Given the description of an element on the screen output the (x, y) to click on. 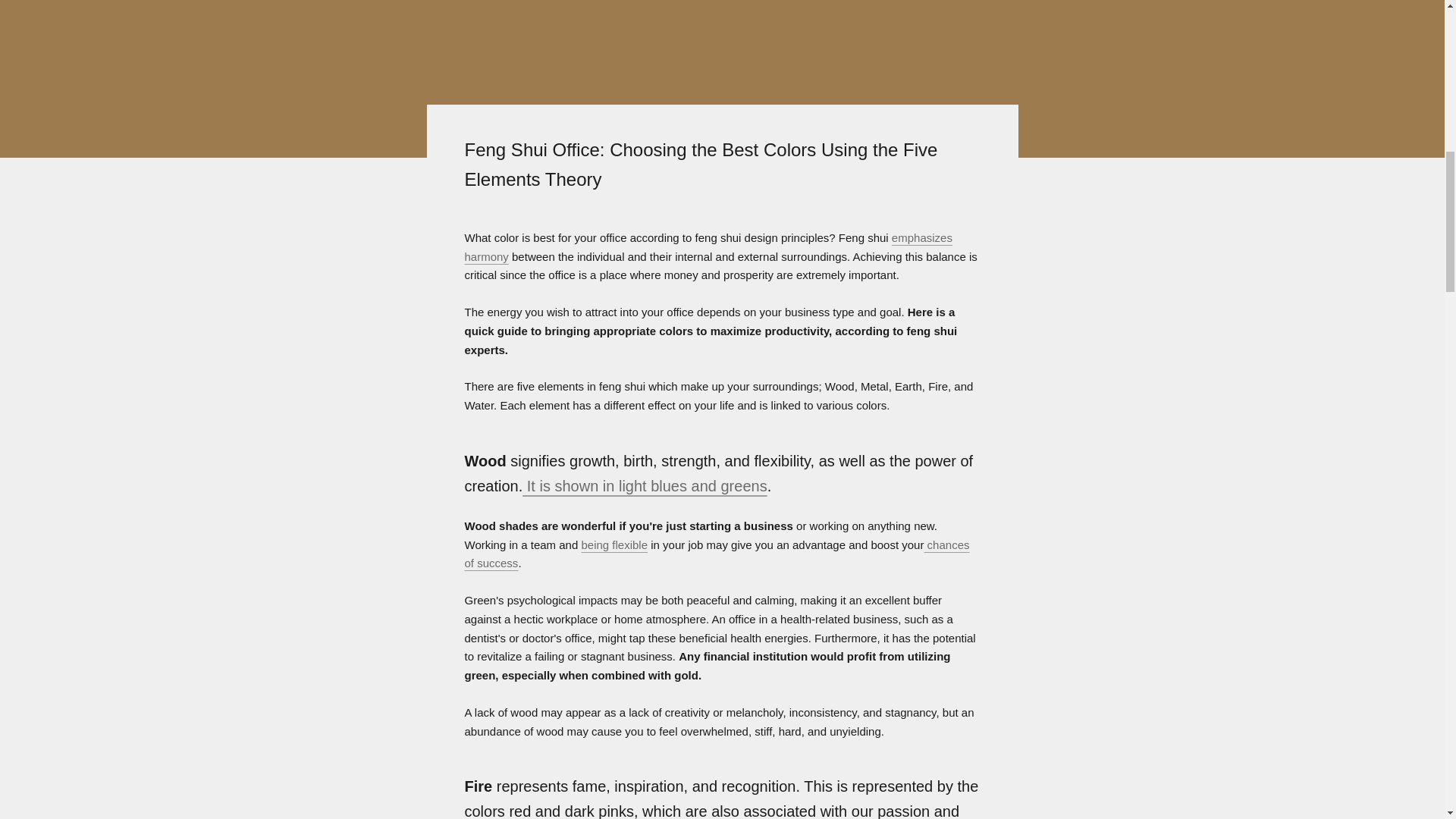
emphasizes harmony (708, 246)
being flexible (613, 544)
chances of success (716, 554)
It is shown in light blues and greens (644, 485)
